Given the description of an element on the screen output the (x, y) to click on. 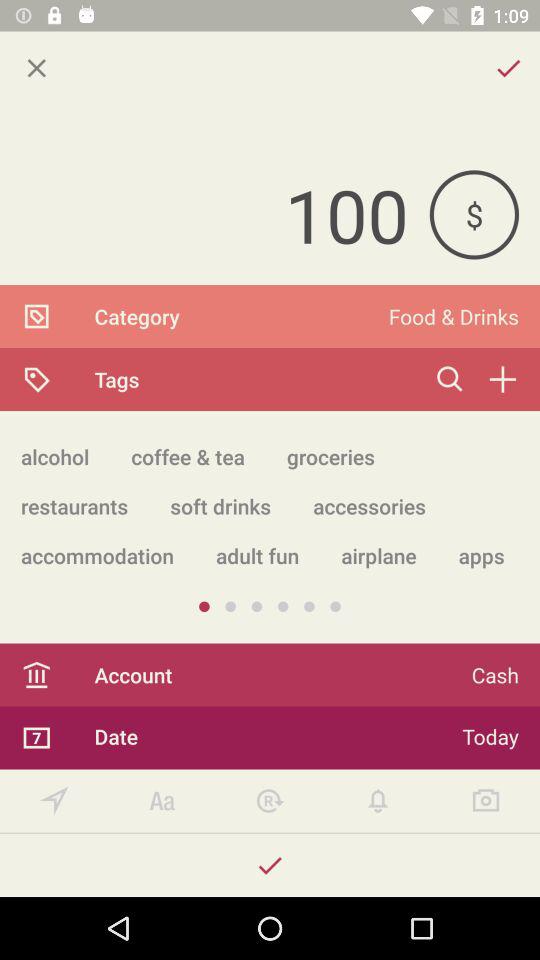
turn off icon to the right of the accommodation app (257, 555)
